Given the description of an element on the screen output the (x, y) to click on. 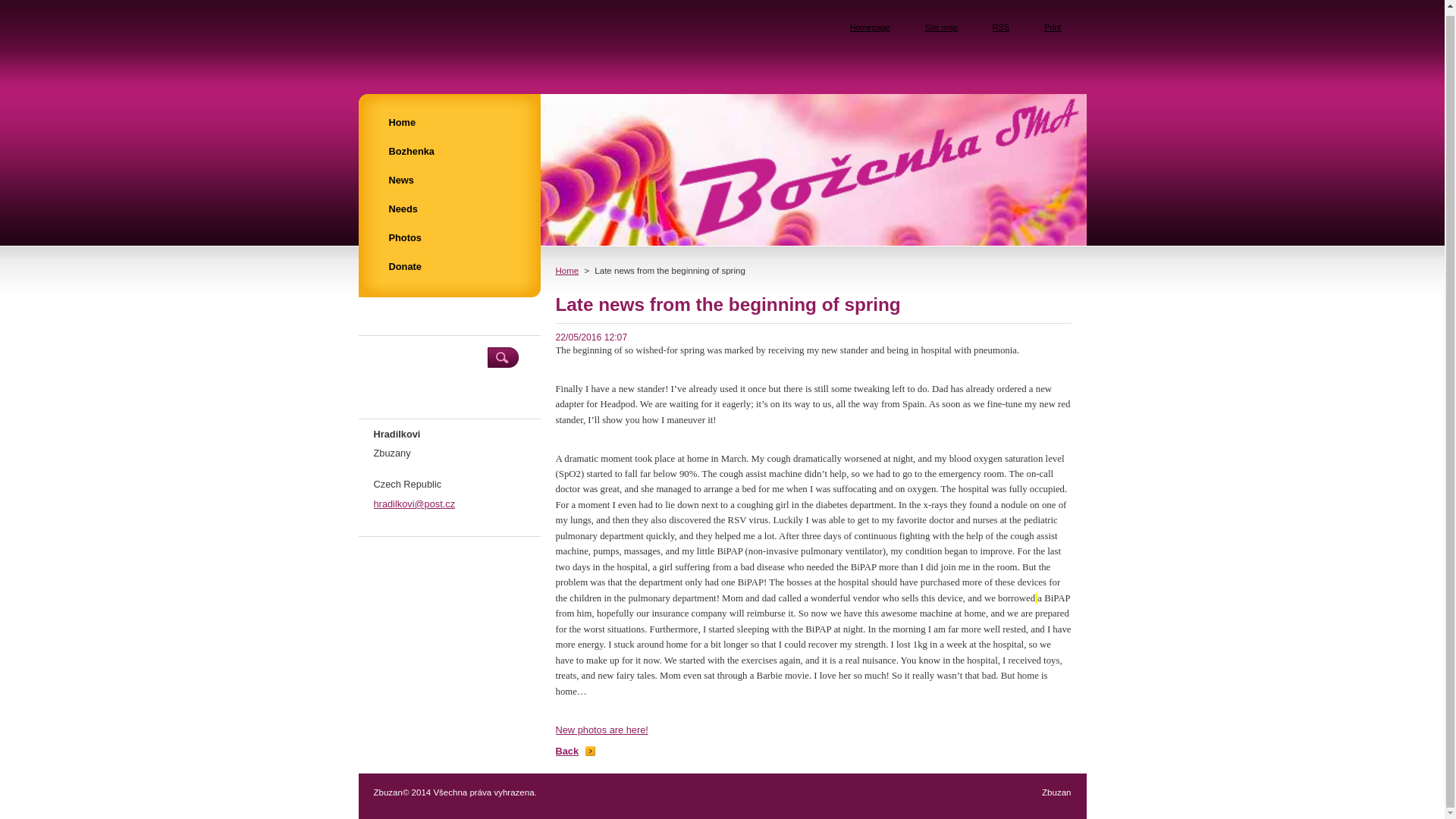
Homepage (863, 26)
Home (566, 270)
Go to Homepage. (466, 36)
English (1064, 77)
News (448, 180)
Search (502, 357)
RSS Feeds (995, 26)
Home (448, 122)
Back (574, 750)
Go to Homepage. (863, 26)
